Given the description of an element on the screen output the (x, y) to click on. 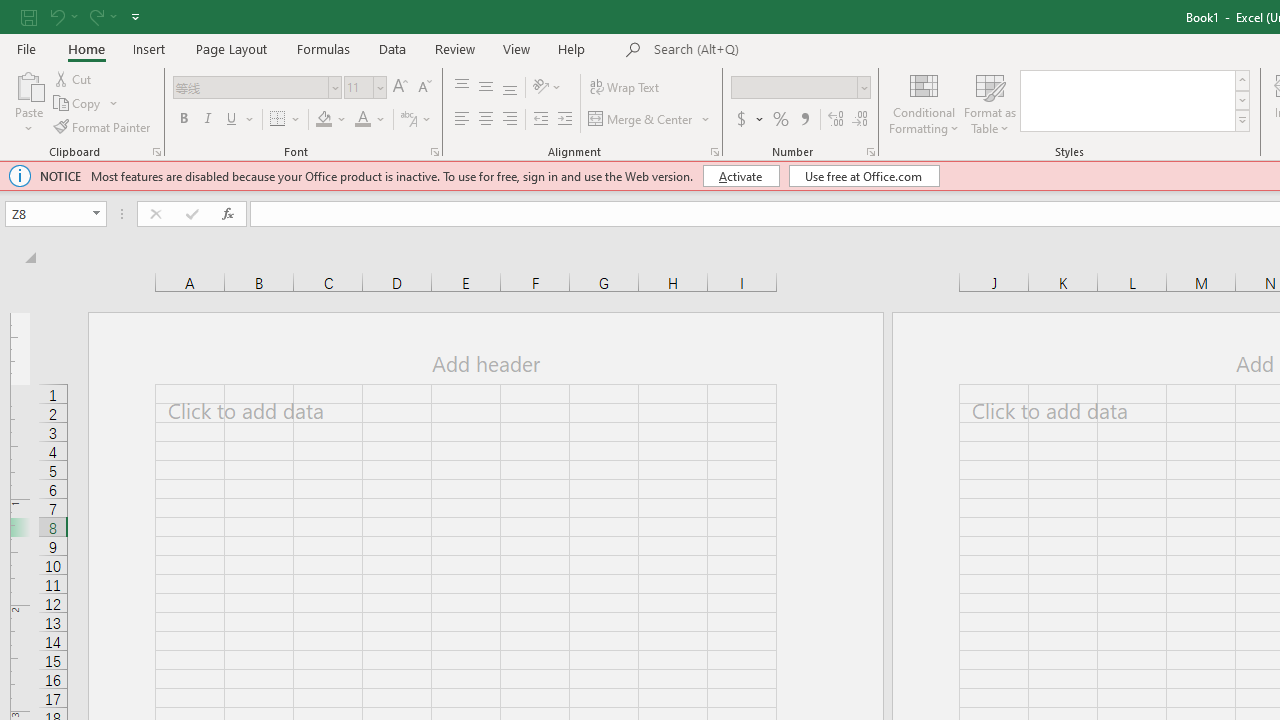
AutomationID: CellStylesGallery (1135, 100)
Accounting Number Format (741, 119)
Activate (740, 175)
Fill Color (331, 119)
Number Format (800, 87)
Copy (78, 103)
Comma Style (804, 119)
Accounting Number Format (749, 119)
Decrease Decimal (859, 119)
Use free at Office.com (863, 175)
Font Color (362, 119)
